Given the description of an element on the screen output the (x, y) to click on. 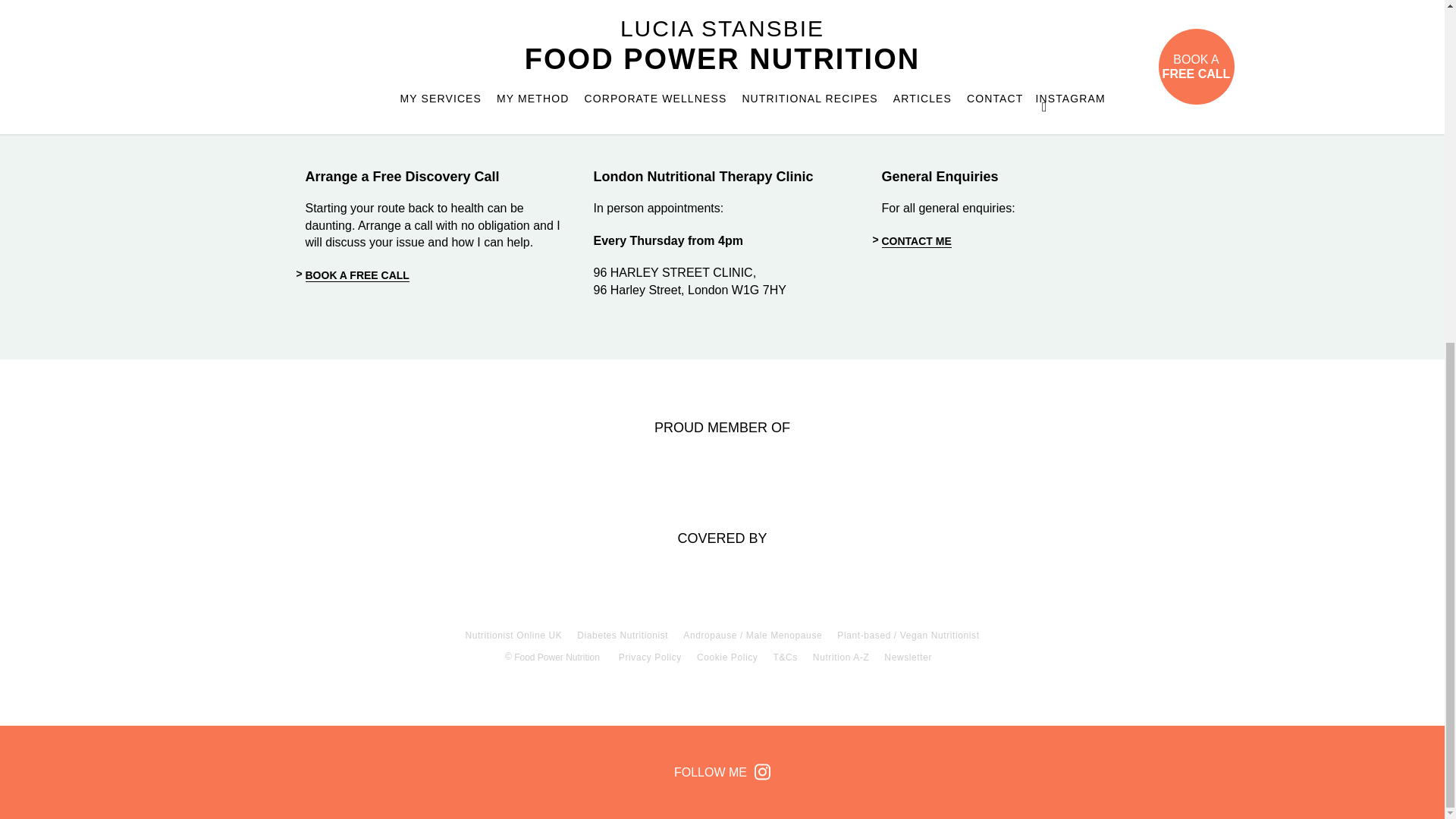
Privacy Policy (649, 656)
Nutrition A-Z (840, 656)
Newsletter (907, 656)
Diabetes Nutritionist (622, 634)
Nutritionist Online UK (513, 634)
Cookie Policy (727, 656)
BOOK A FREE CALL (356, 275)
CONTACT ME (915, 241)
